Given the description of an element on the screen output the (x, y) to click on. 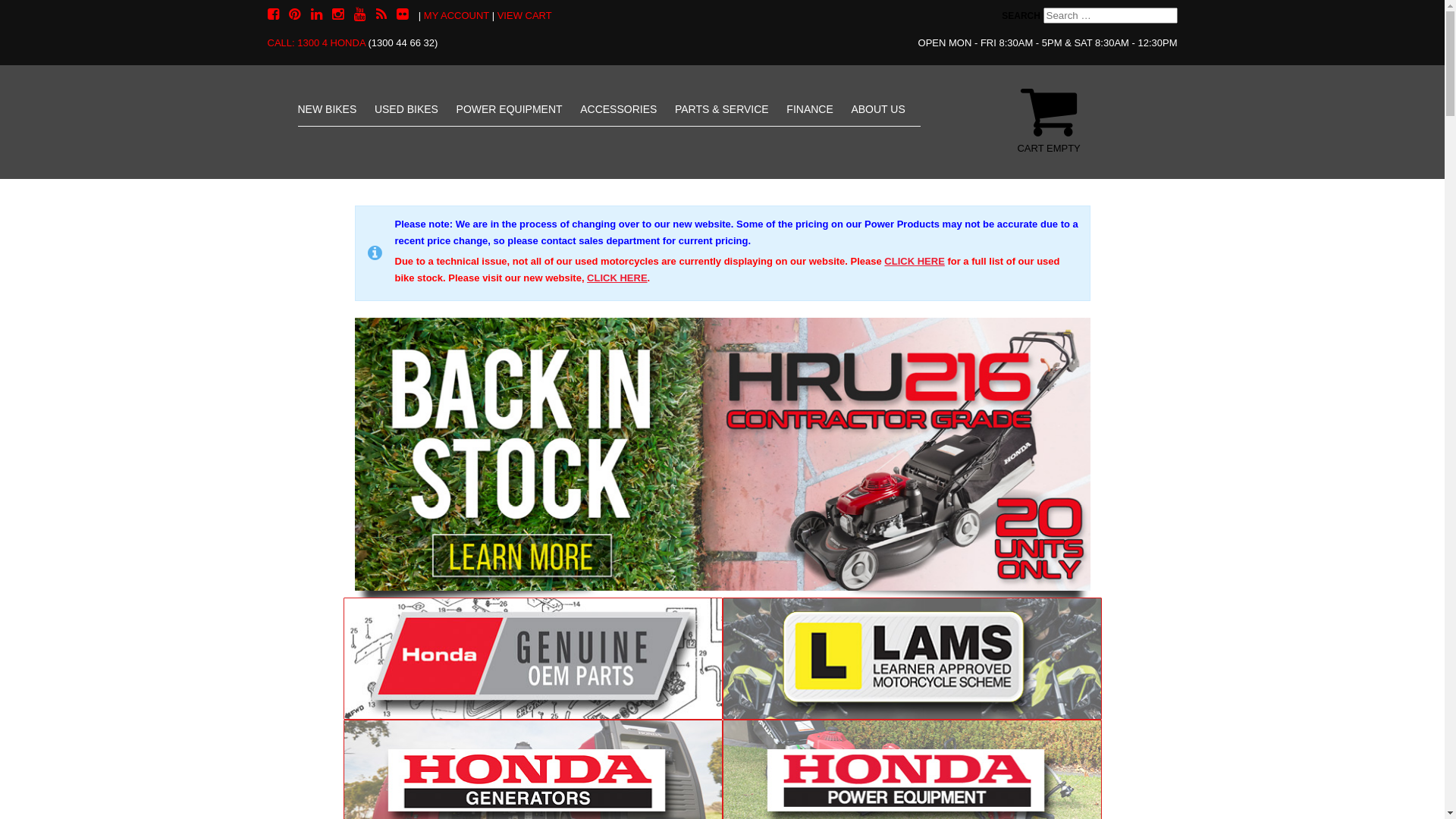
ACCESSORIES Element type: text (618, 109)
ABOUT US Element type: text (877, 109)
CLICK HERE Element type: text (616, 277)
POWER EQUIPMENT Element type: text (509, 109)
PARTS & SERVICE Element type: text (721, 109)
Search Element type: text (57, 20)
NEW BIKES Element type: text (326, 109)
FINANCE Element type: text (809, 109)
MY ACCOUNT Element type: text (456, 15)
VIEW CART Element type: text (524, 15)
CLICK HERE Element type: text (914, 260)
USED BIKES Element type: text (406, 109)
CALL: 1300 4 HONDA Element type: text (315, 41)
